Given the description of an element on the screen output the (x, y) to click on. 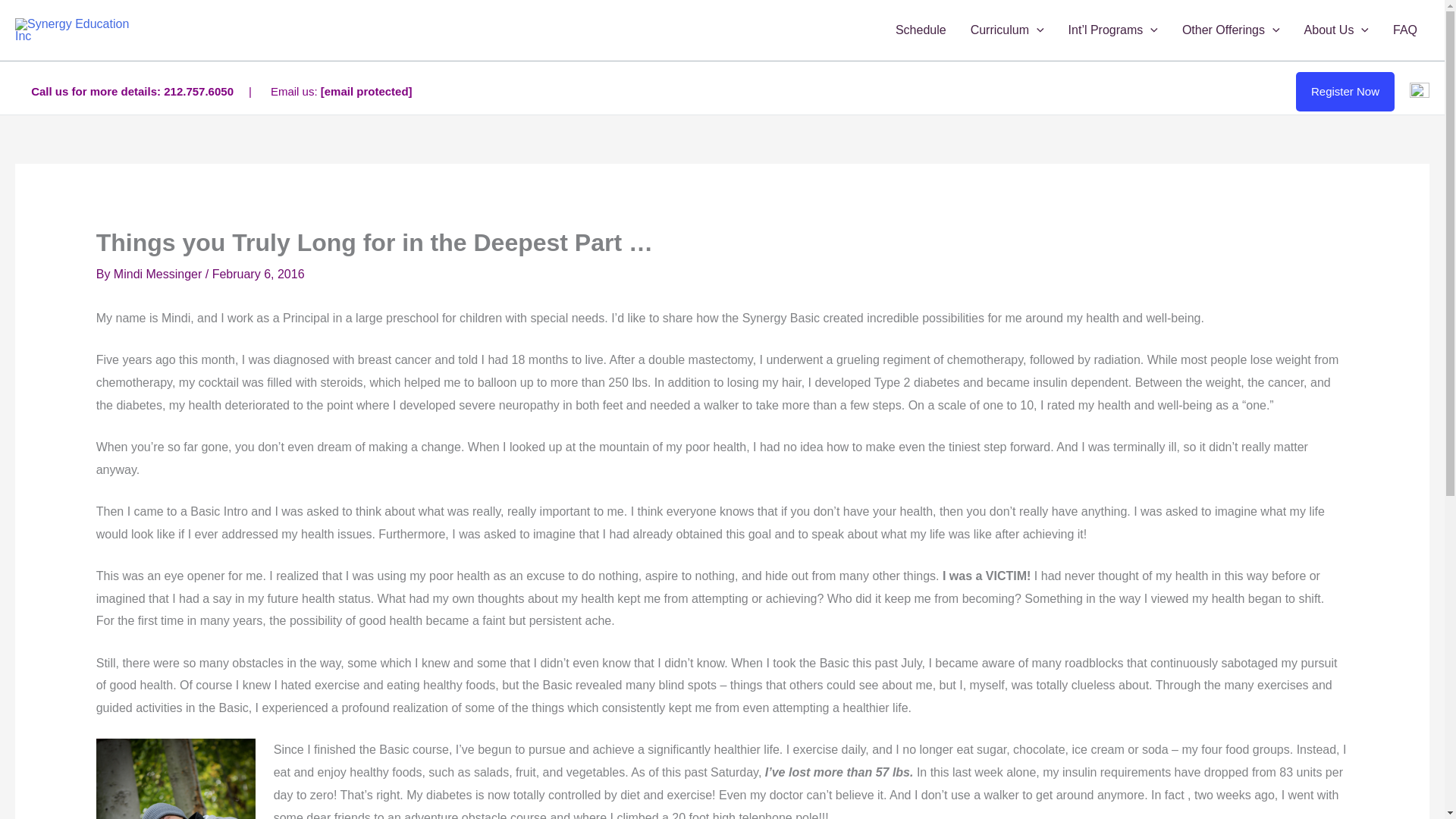
Register Now (1344, 91)
Other Offerings (1231, 30)
Call us for more details: 212.757.6050 (131, 91)
View all posts by Mindi Messinger (159, 273)
Schedule (920, 30)
Curriculum (1007, 30)
About Us (1336, 30)
